Given the description of an element on the screen output the (x, y) to click on. 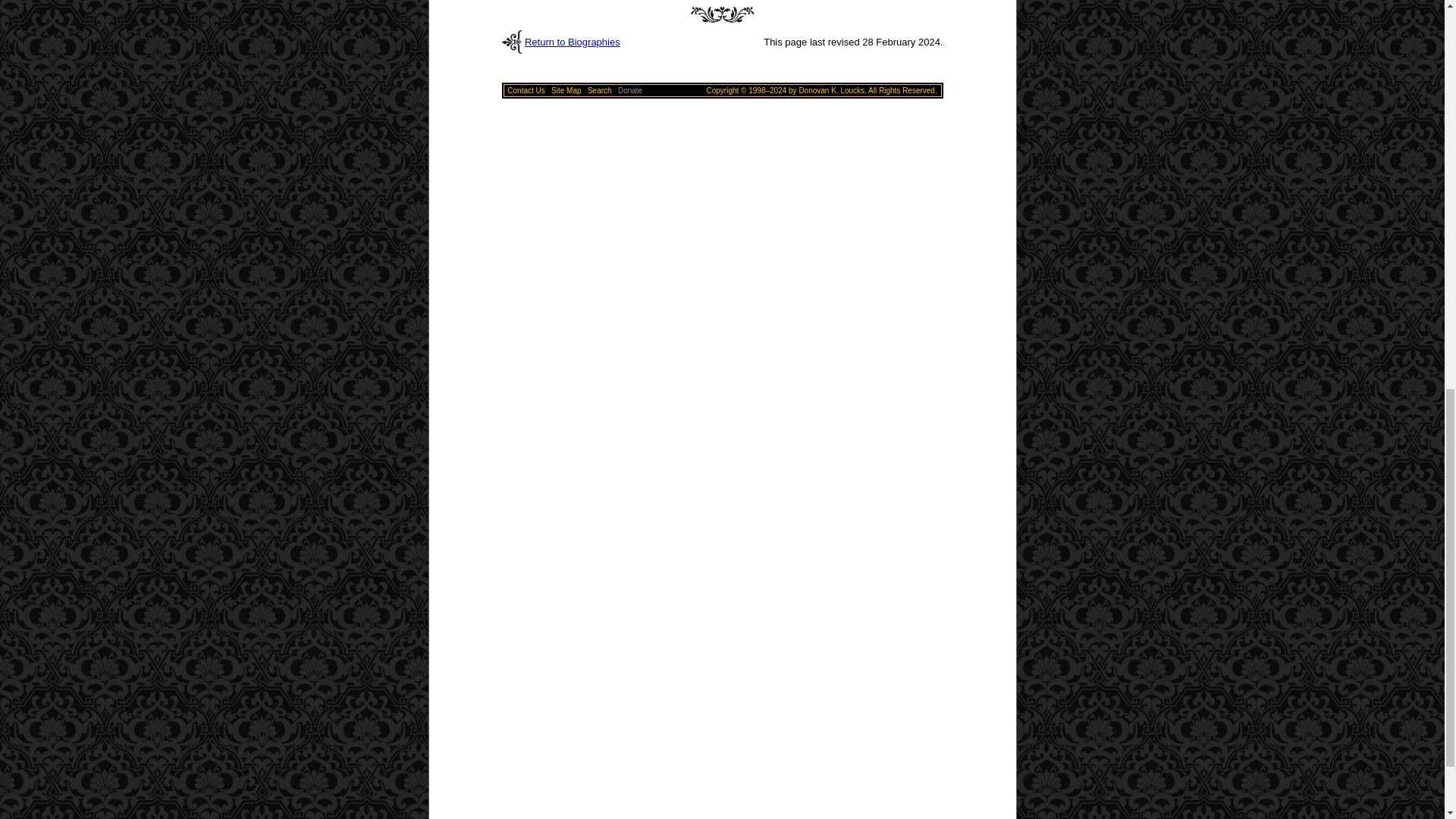
Site Map (565, 90)
Search (599, 90)
Donate (629, 90)
Contact Us (525, 90)
Return to Biographies (572, 41)
